Given the description of an element on the screen output the (x, y) to click on. 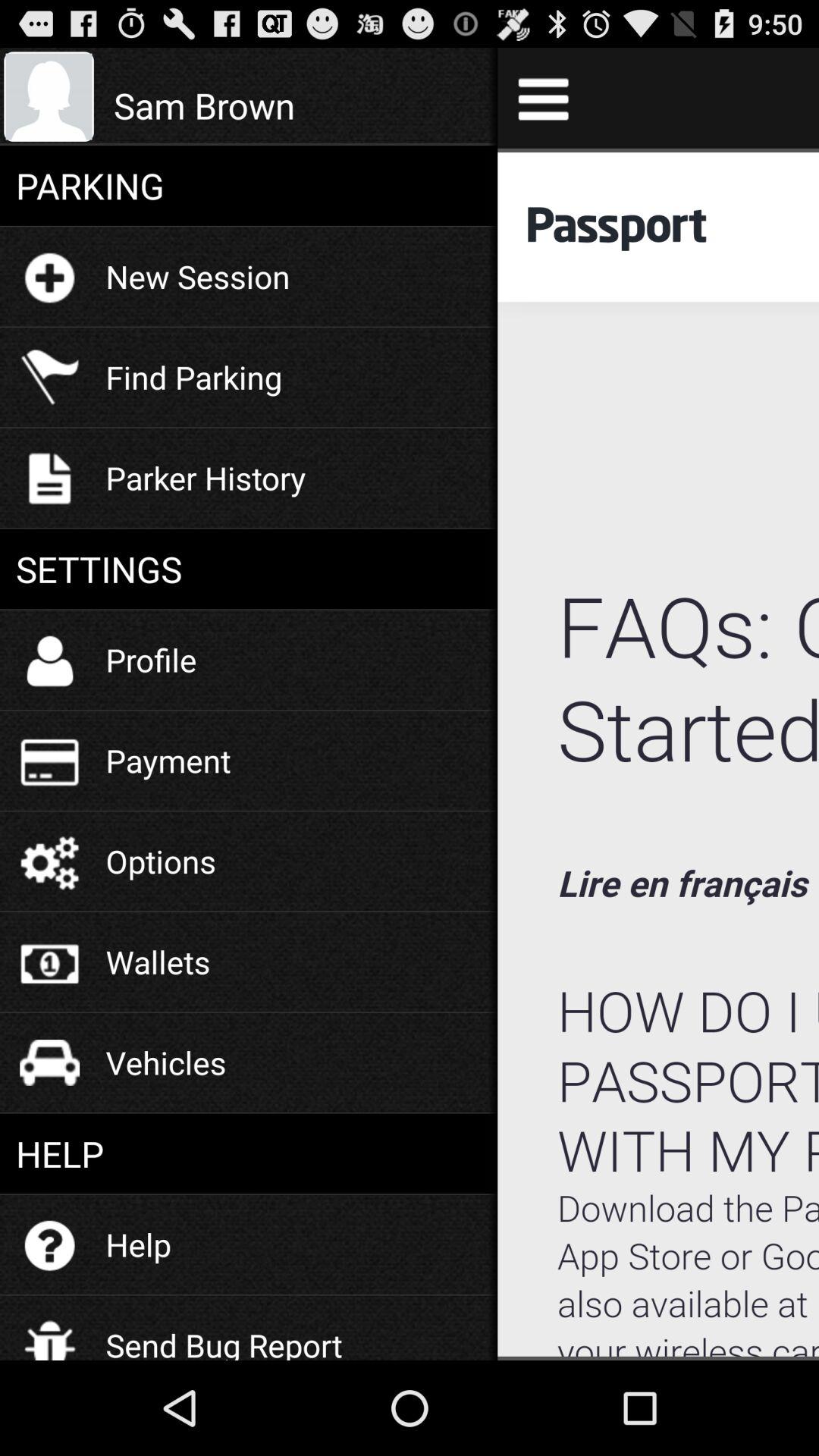
turn off the icon below the profile icon (167, 759)
